Given the description of an element on the screen output the (x, y) to click on. 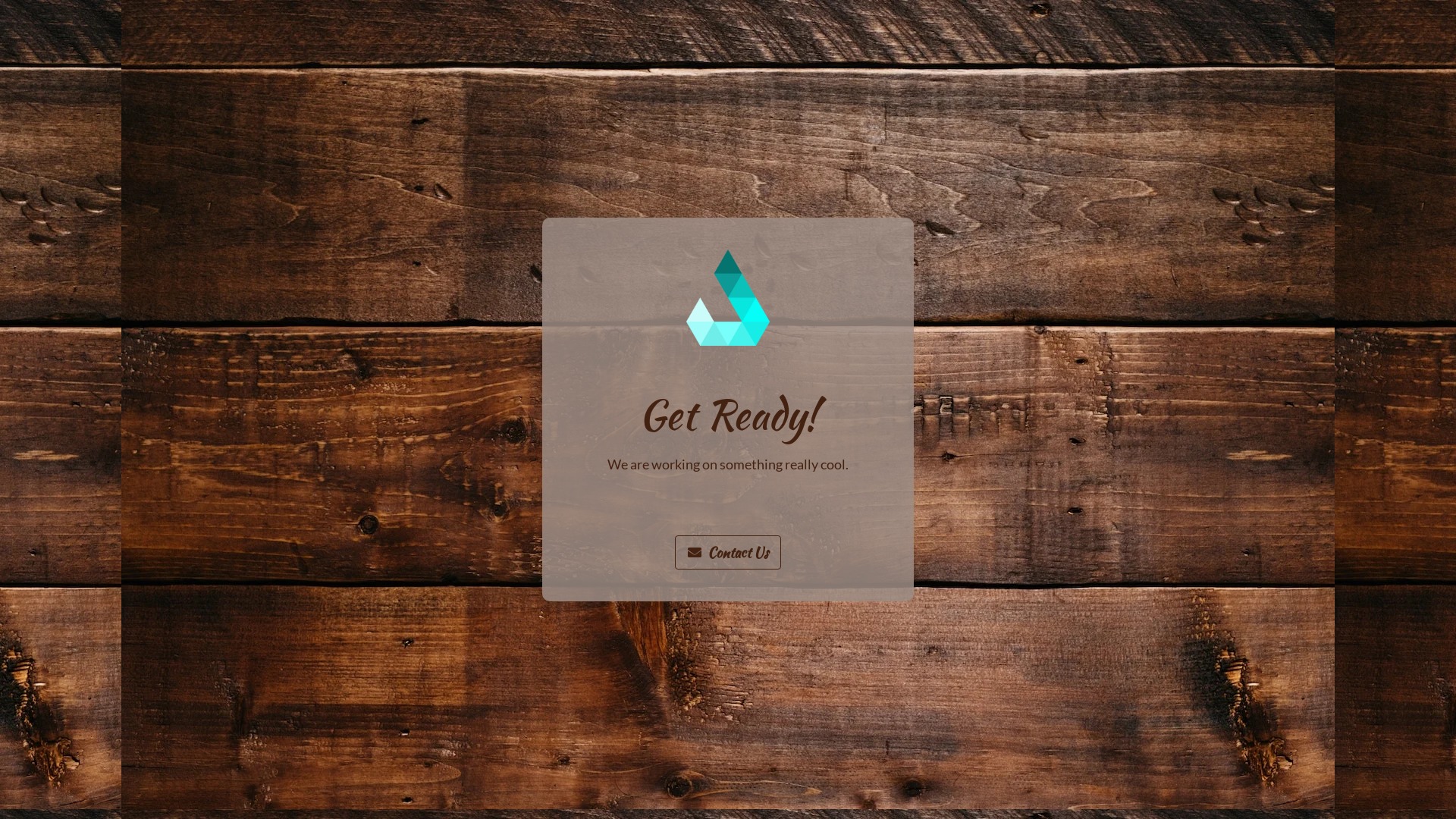
Contact Us Element type: text (727, 552)
